Given the description of an element on the screen output the (x, y) to click on. 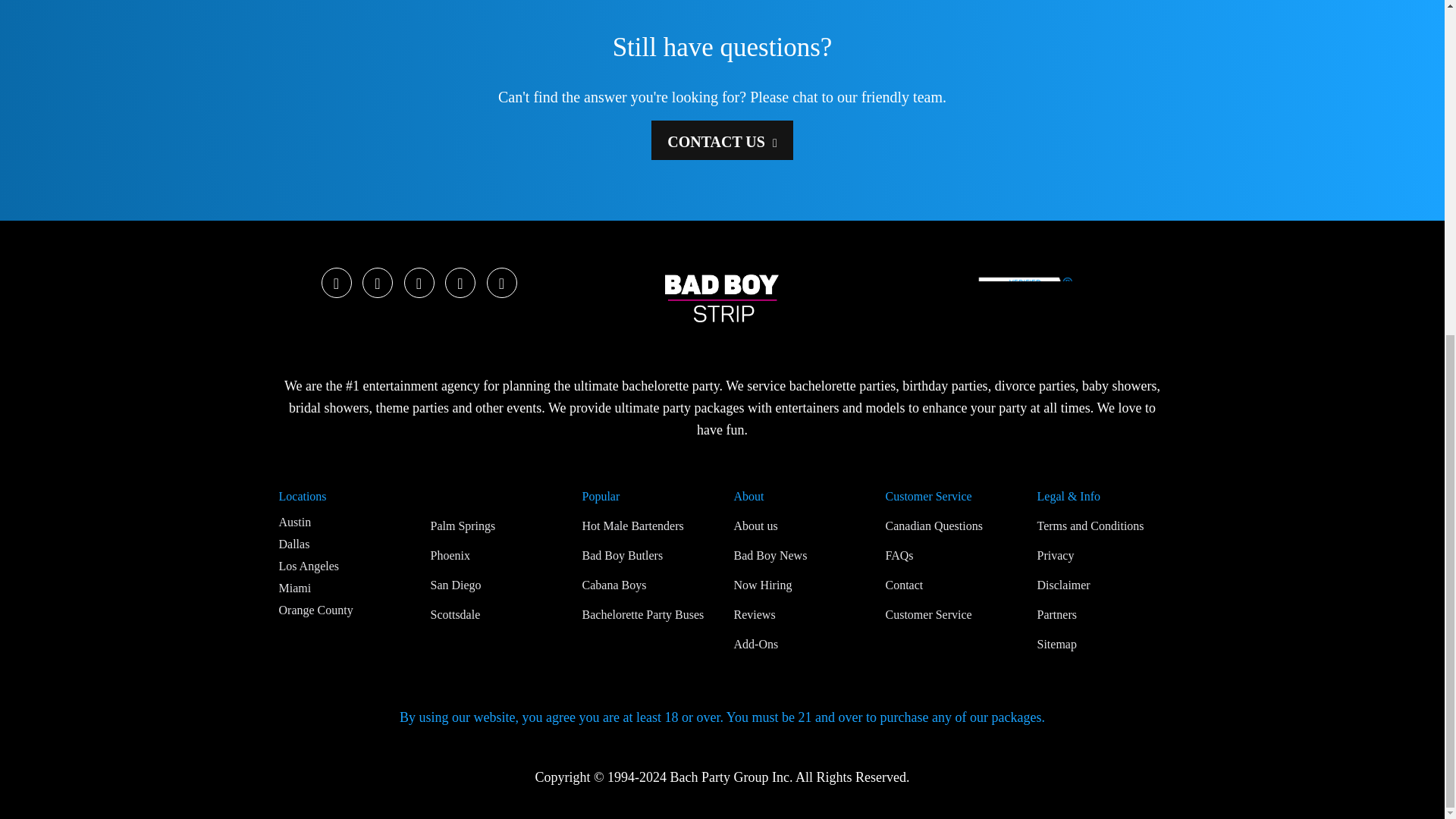
CONTACT US (721, 139)
